Given the description of an element on the screen output the (x, y) to click on. 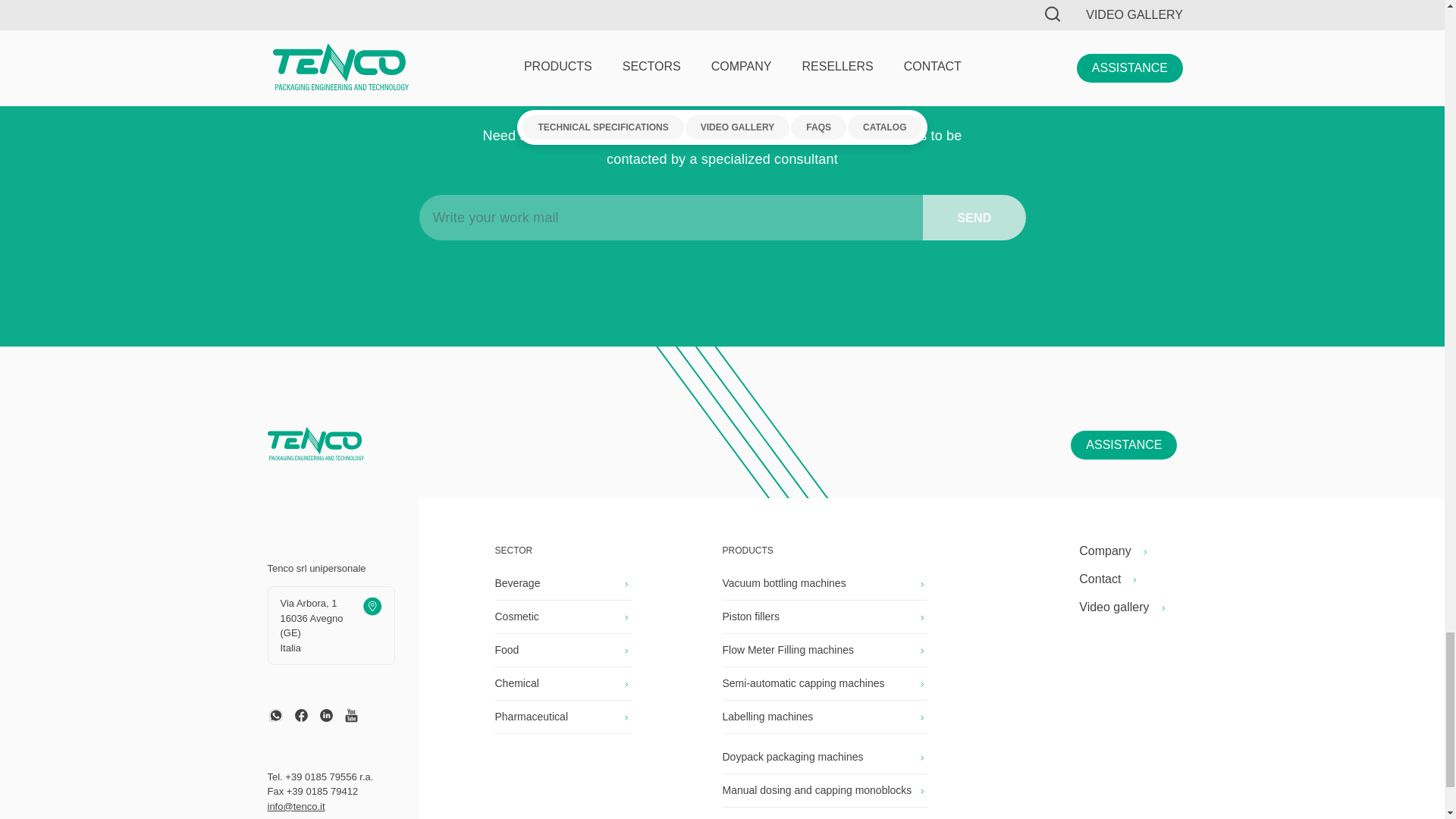
Send (974, 217)
